Given the description of an element on the screen output the (x, y) to click on. 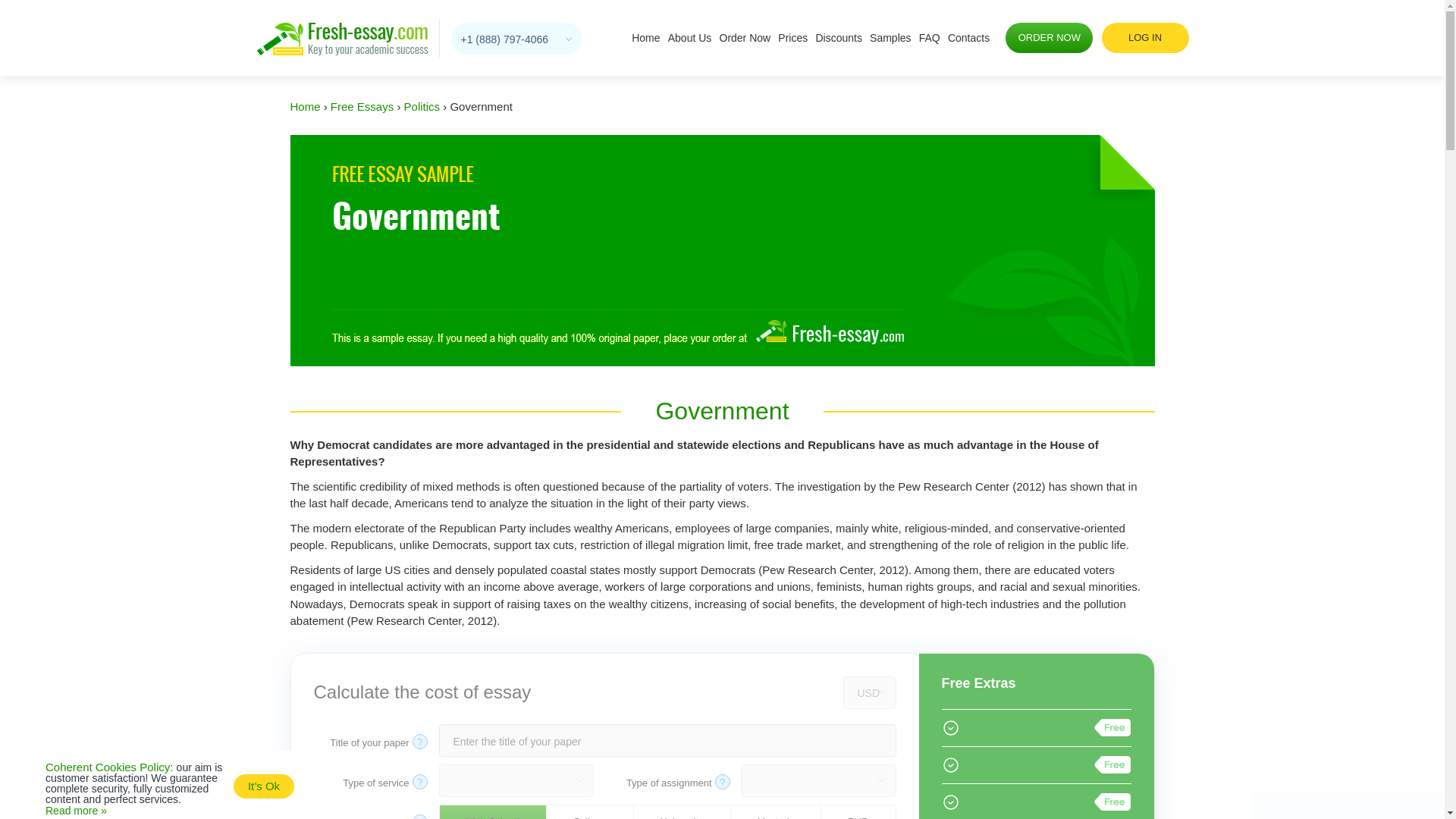
Home (645, 37)
Contacts (968, 37)
Samples (890, 37)
Politics (422, 106)
About Us (689, 37)
ORDER NOW (1049, 37)
Free Essays (361, 106)
Discounts (838, 37)
Fresh-Essay.com (342, 38)
Home (304, 106)
Order Now (744, 37)
Prices (792, 37)
FAQ (929, 37)
